Given the description of an element on the screen output the (x, y) to click on. 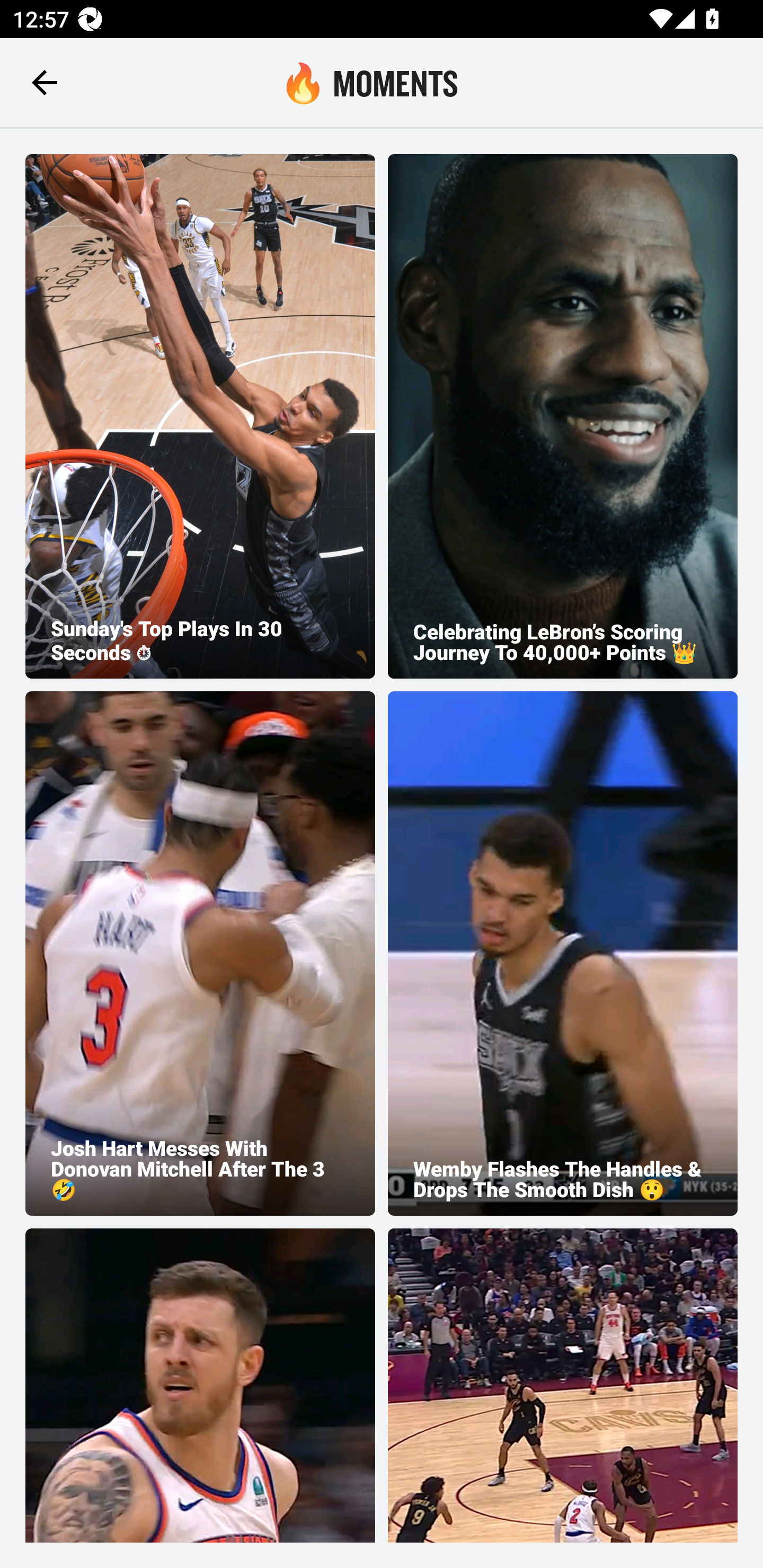
Navigate up (44, 82)
Sunday's Top Plays In 30 Seconds ⏱ (200, 415)
